Given the description of an element on the screen output the (x, y) to click on. 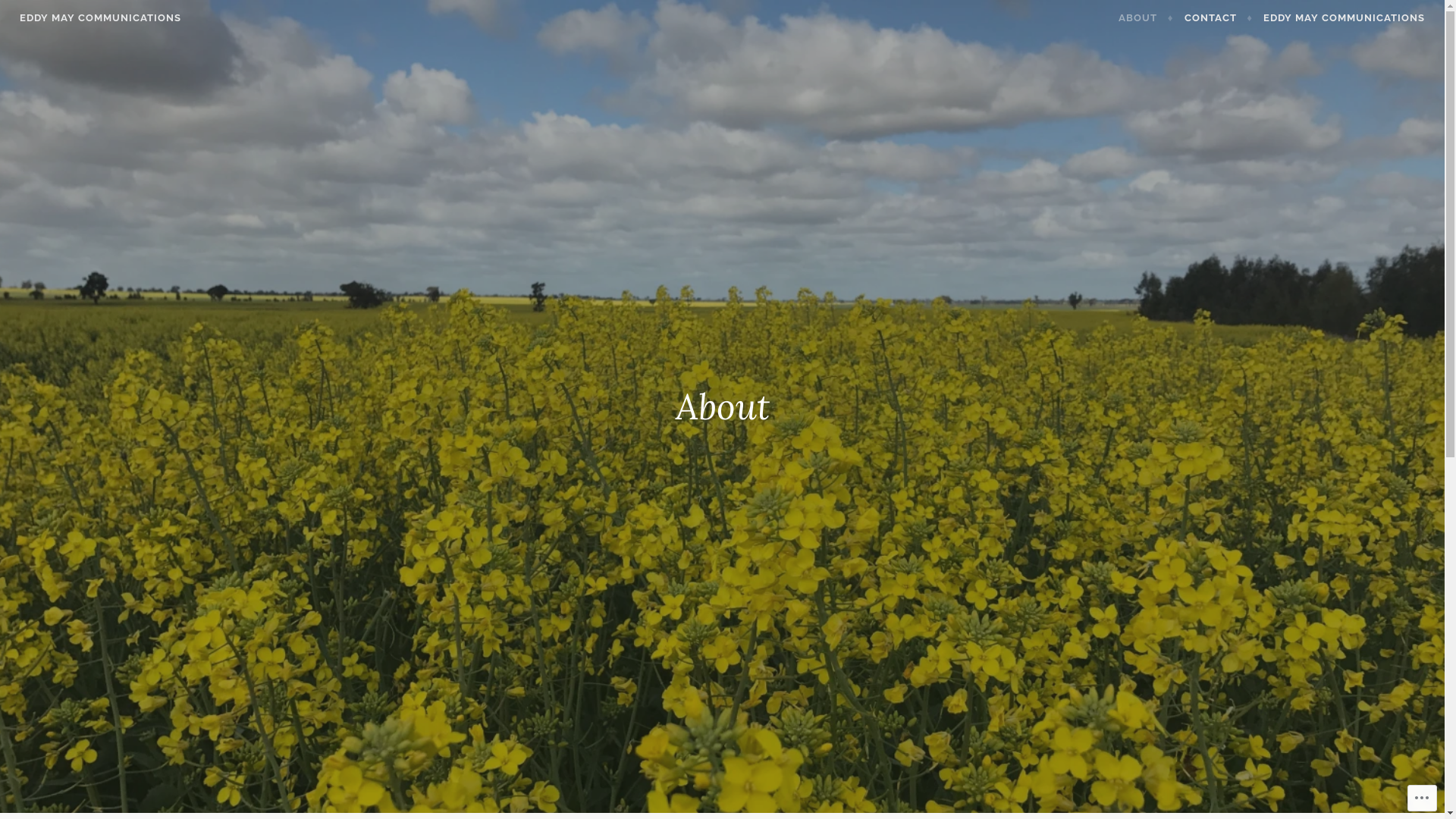
ABOUT Element type: text (1145, 17)
CONTACT Element type: text (1218, 17)
EDDY MAY COMMUNICATIONS Element type: text (1343, 17)
EDDY MAY COMMUNICATIONS Element type: text (100, 17)
